Given the description of an element on the screen output the (x, y) to click on. 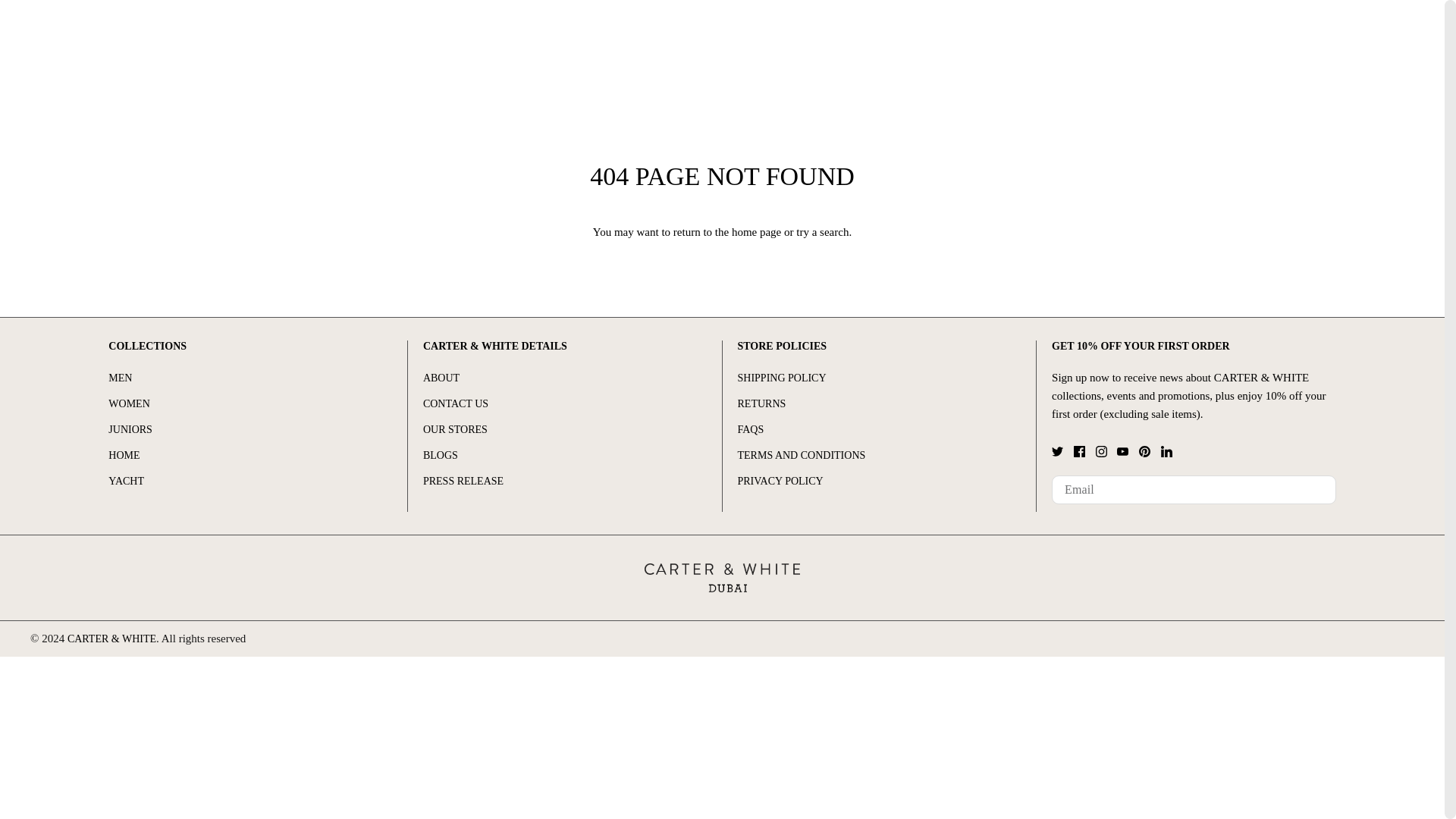
INSTAGRAM (1101, 451)
TWITTER (1056, 451)
FACEBOOK (1079, 451)
PINTEREST (1144, 451)
YOUTUBE (1122, 451)
